Given the description of an element on the screen output the (x, y) to click on. 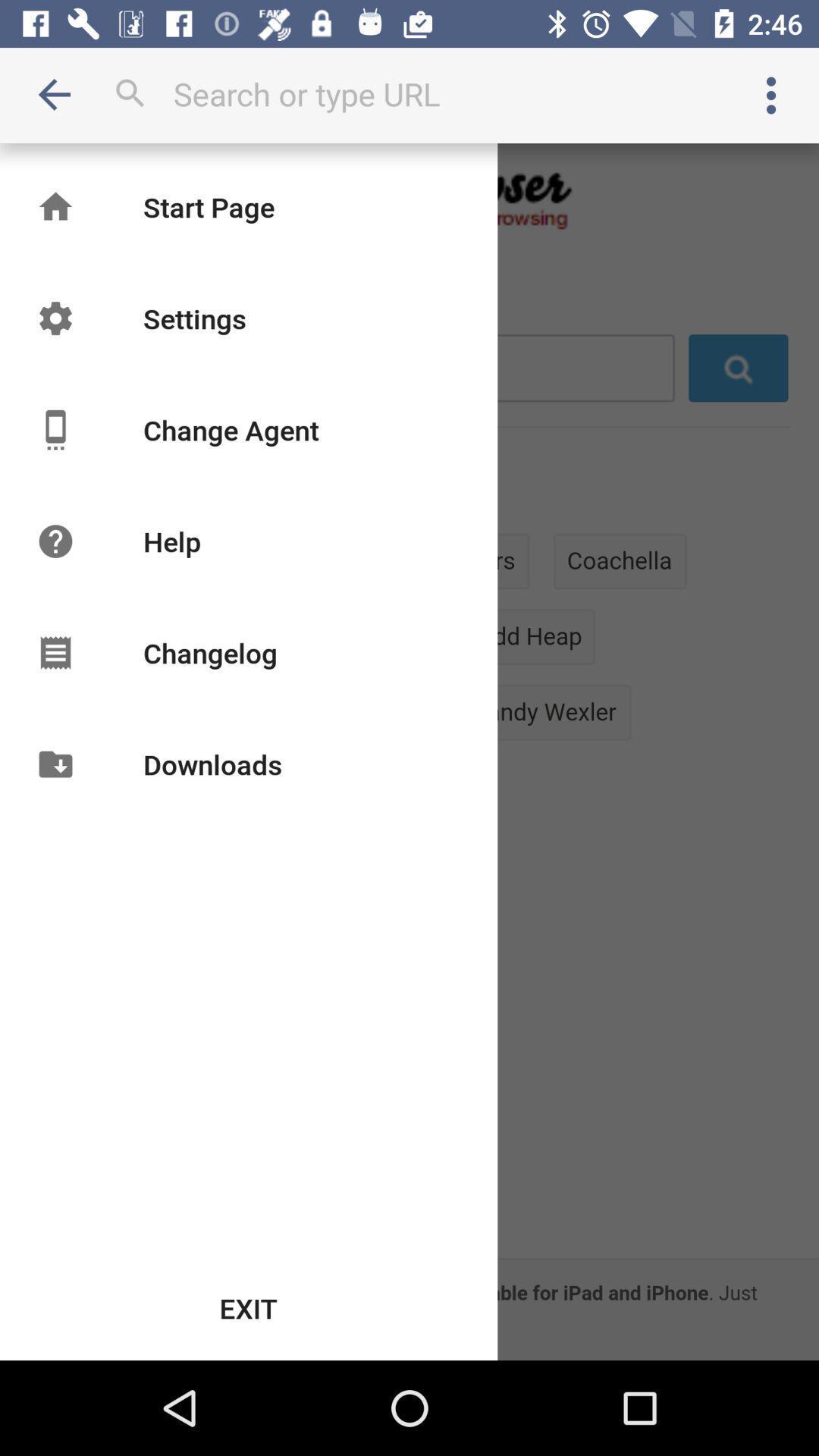
tap the icon at the bottom left corner (248, 1308)
